Given the description of an element on the screen output the (x, y) to click on. 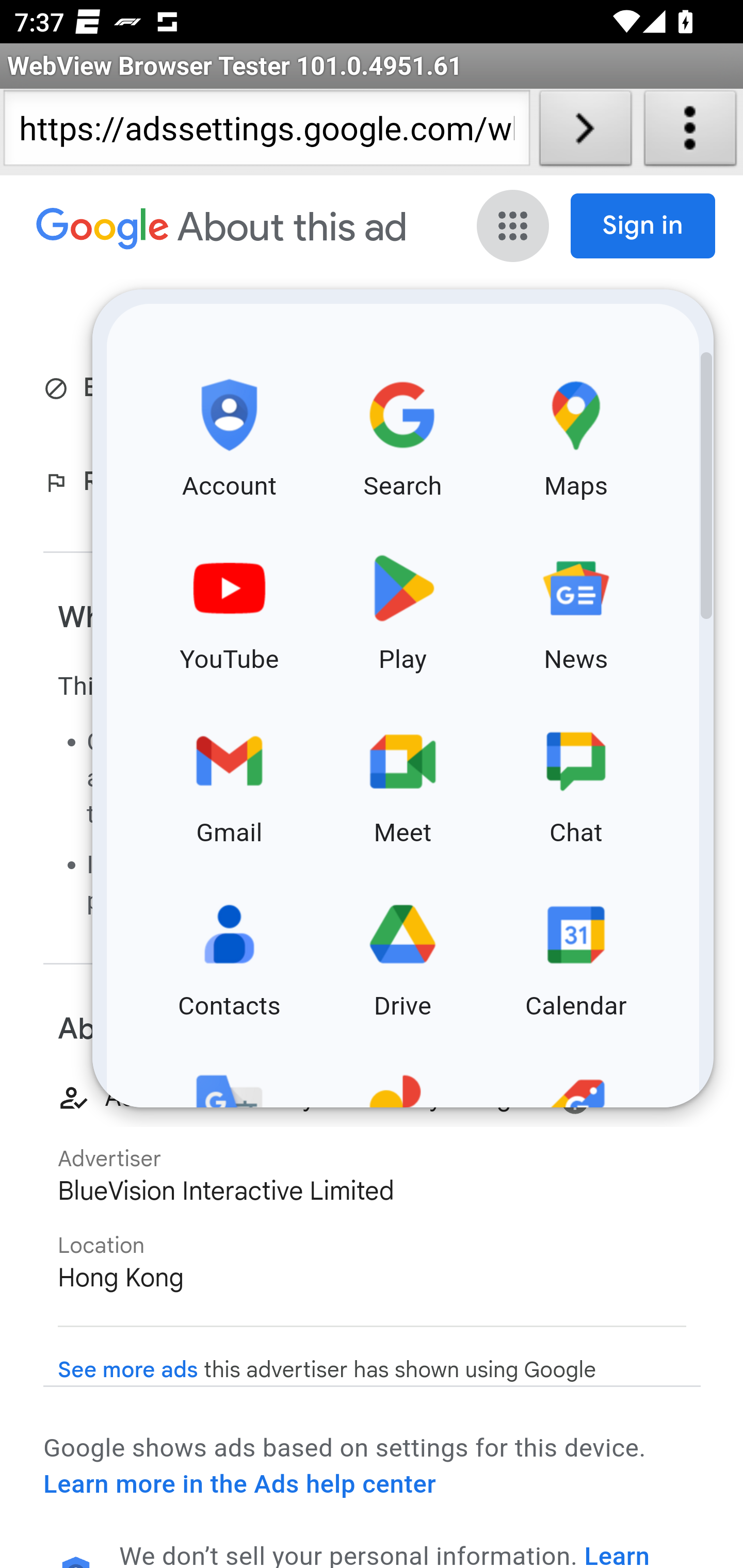
https://adssettings.google.com/whythisad (266, 132)
Load URL (585, 132)
About WebView (690, 132)
Google apps (514, 226)
Sign in (643, 226)
See more ads (opens in new tab) See more ads (127, 1370)
Learn more in the Ads help center (239, 1483)
Learn how ad personalization works (384, 1553)
